Given the description of an element on the screen output the (x, y) to click on. 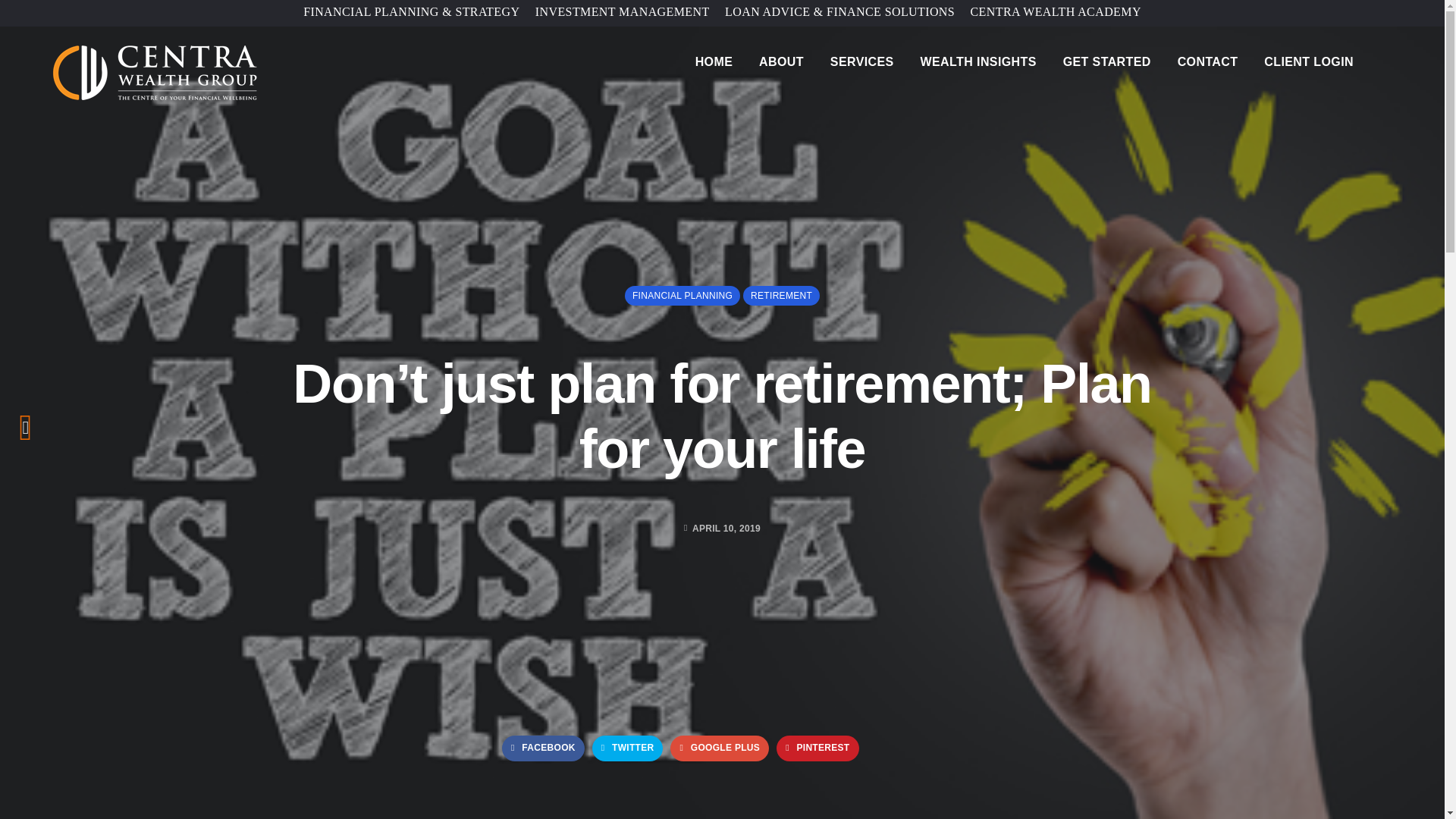
Pinterest (817, 748)
WEALTH INSIGHTS (978, 62)
SERVICES (861, 62)
HOME (714, 62)
CENTRA WEALTH ACADEMY (1056, 11)
INVESTMENT MANAGEMENT (622, 11)
ABOUT (780, 62)
Google Plus (718, 748)
CLIENT LOGIN (1308, 62)
CONTACT (1208, 62)
